Given the description of an element on the screen output the (x, y) to click on. 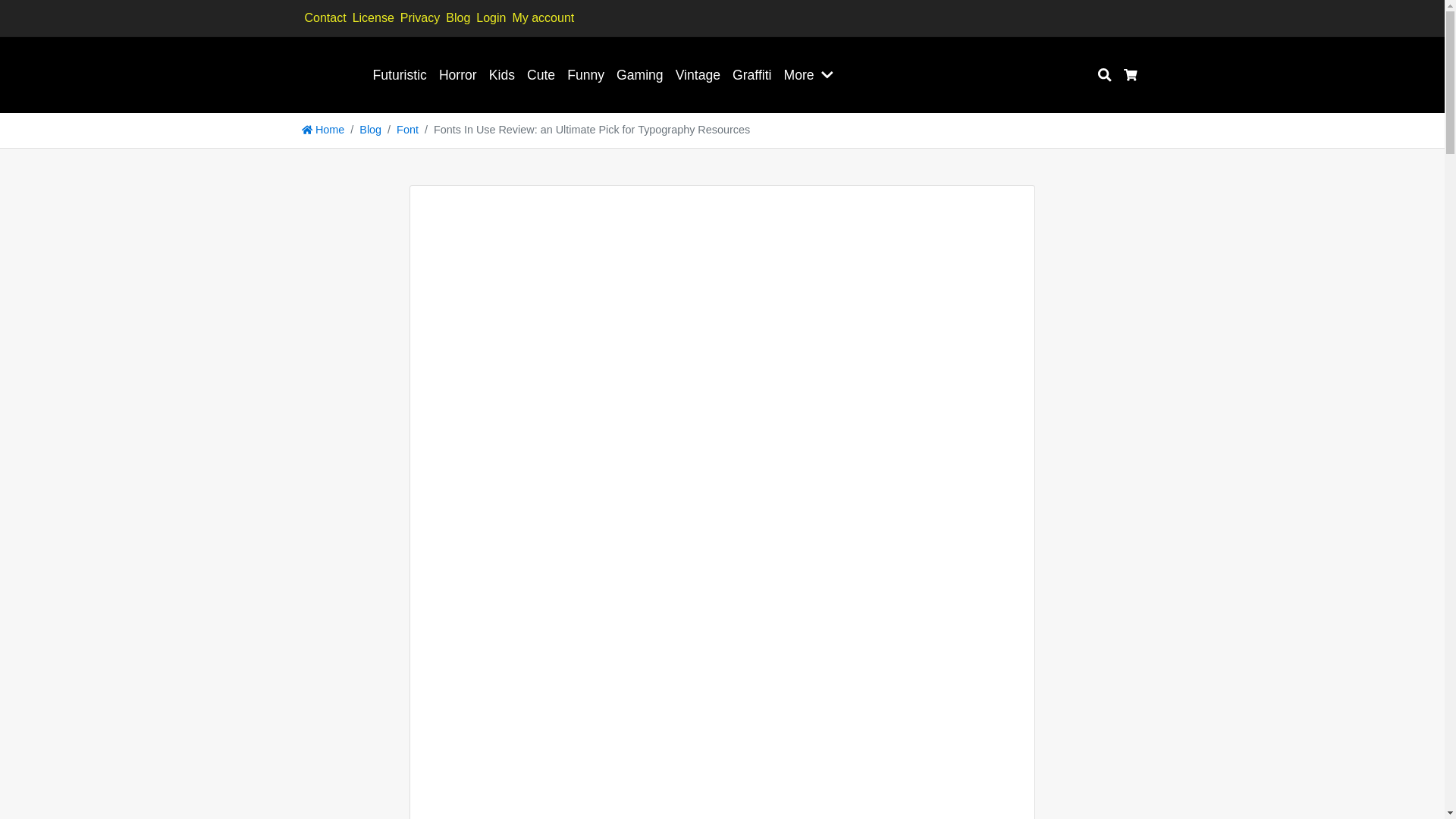
Cute (540, 74)
Graffiti (751, 74)
License (373, 17)
More (799, 74)
Font (407, 129)
Horror (457, 74)
My account (542, 17)
Kids (502, 74)
Gaming (639, 74)
Blog (370, 129)
